Given the description of an element on the screen output the (x, y) to click on. 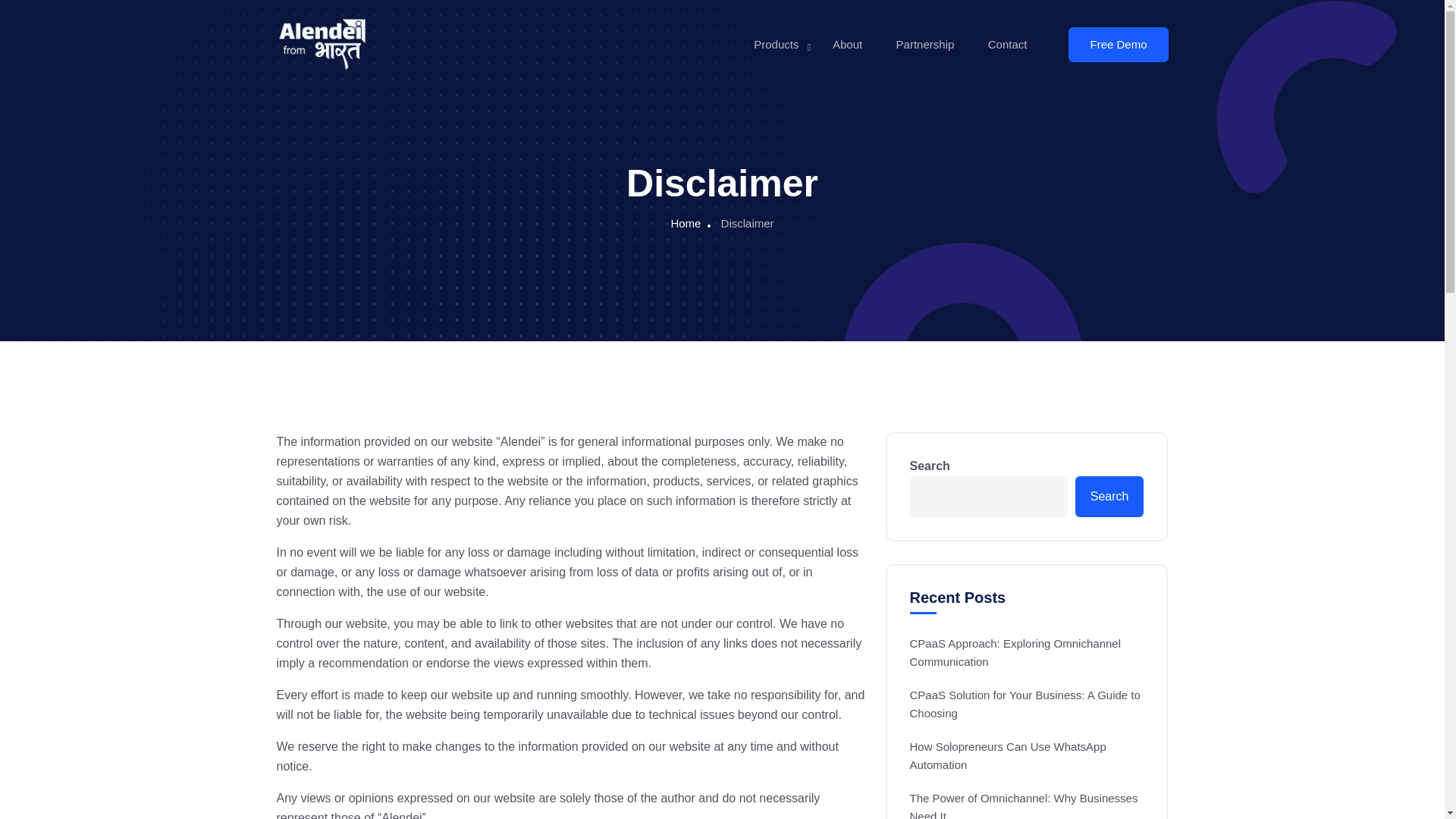
Products (775, 43)
Search (1109, 495)
Contact (1007, 43)
Contact (1007, 43)
CPaaS Solution for Your Business: A Guide to Choosing (1027, 704)
About (846, 43)
The Power of Omnichannel: Why Businesses Need It (1027, 804)
Partnership (925, 43)
Partnership (925, 43)
Free Demo (1117, 44)
Home (684, 223)
About (846, 43)
CPaaS Approach: Exploring Omnichannel Communication (1027, 652)
How Solopreneurs Can Use WhatsApp Automation (1027, 755)
Products (775, 43)
